Given the description of an element on the screen output the (x, y) to click on. 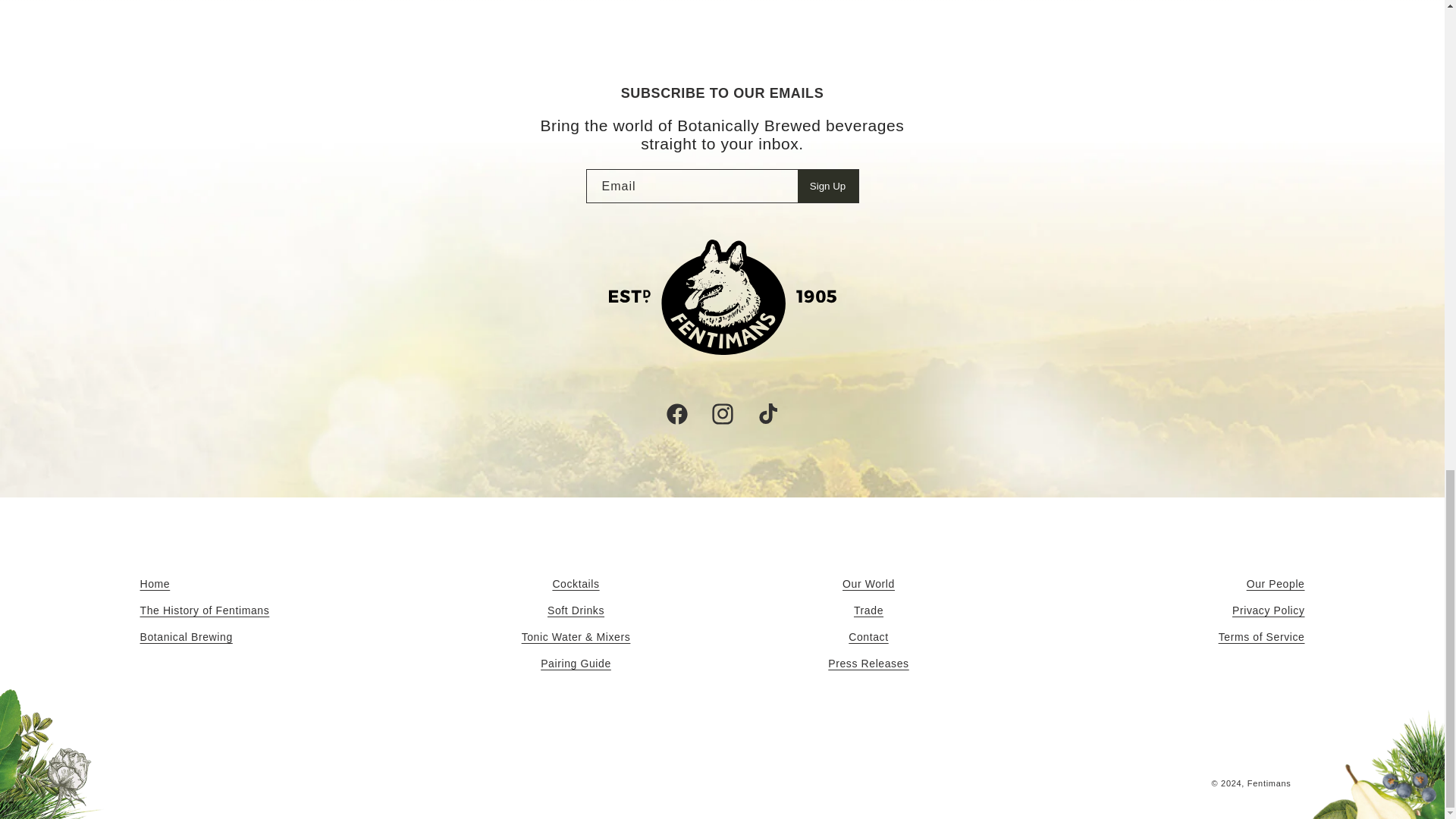
The History of Fentimans (204, 610)
Botanical Brewing (185, 637)
Home (154, 585)
Sign Up (828, 185)
Cocktails (574, 585)
Facebook (675, 413)
TikTok (767, 413)
Instagram (721, 413)
